Given the description of an element on the screen output the (x, y) to click on. 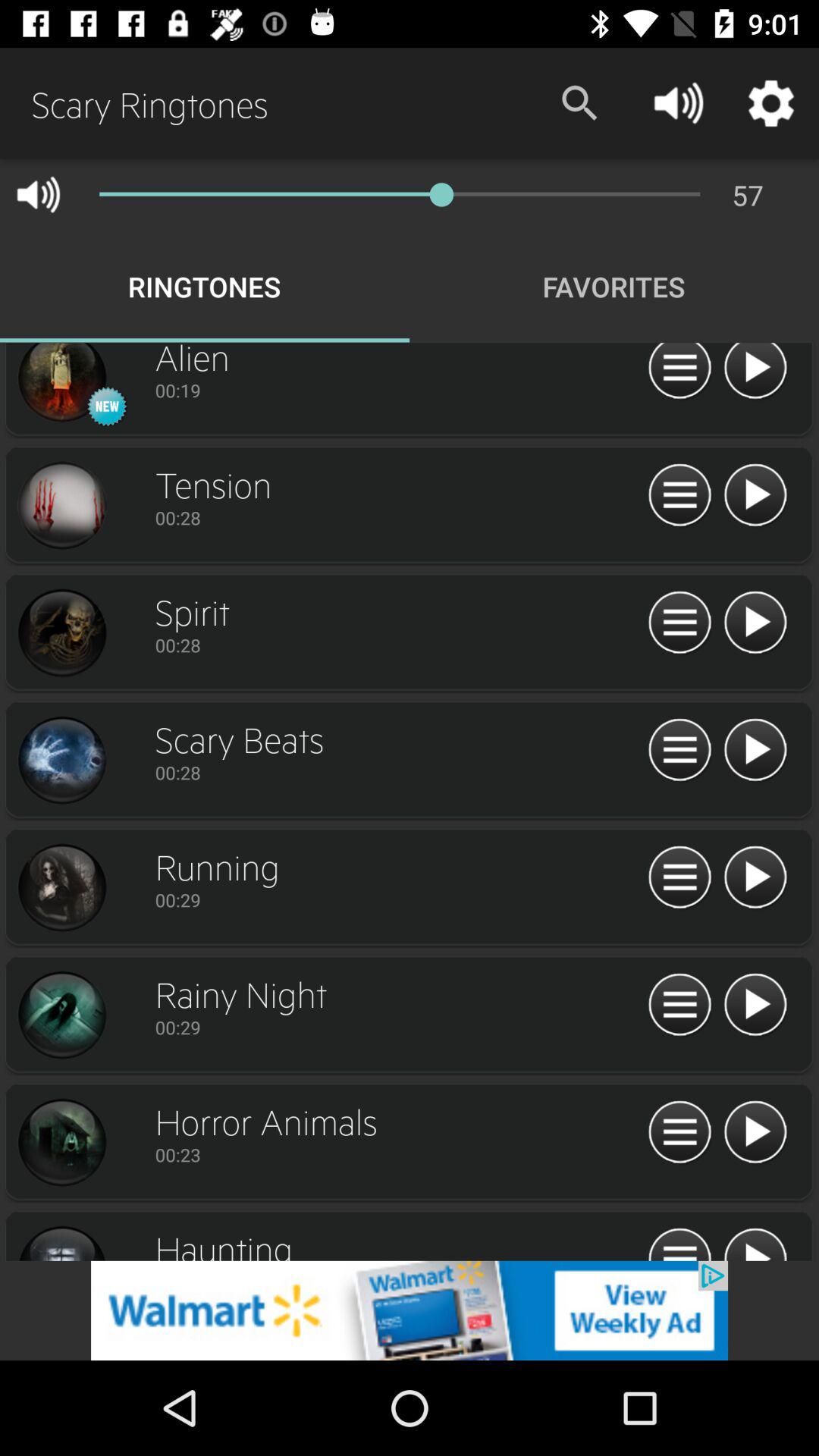
share the article (755, 495)
